Given the description of an element on the screen output the (x, y) to click on. 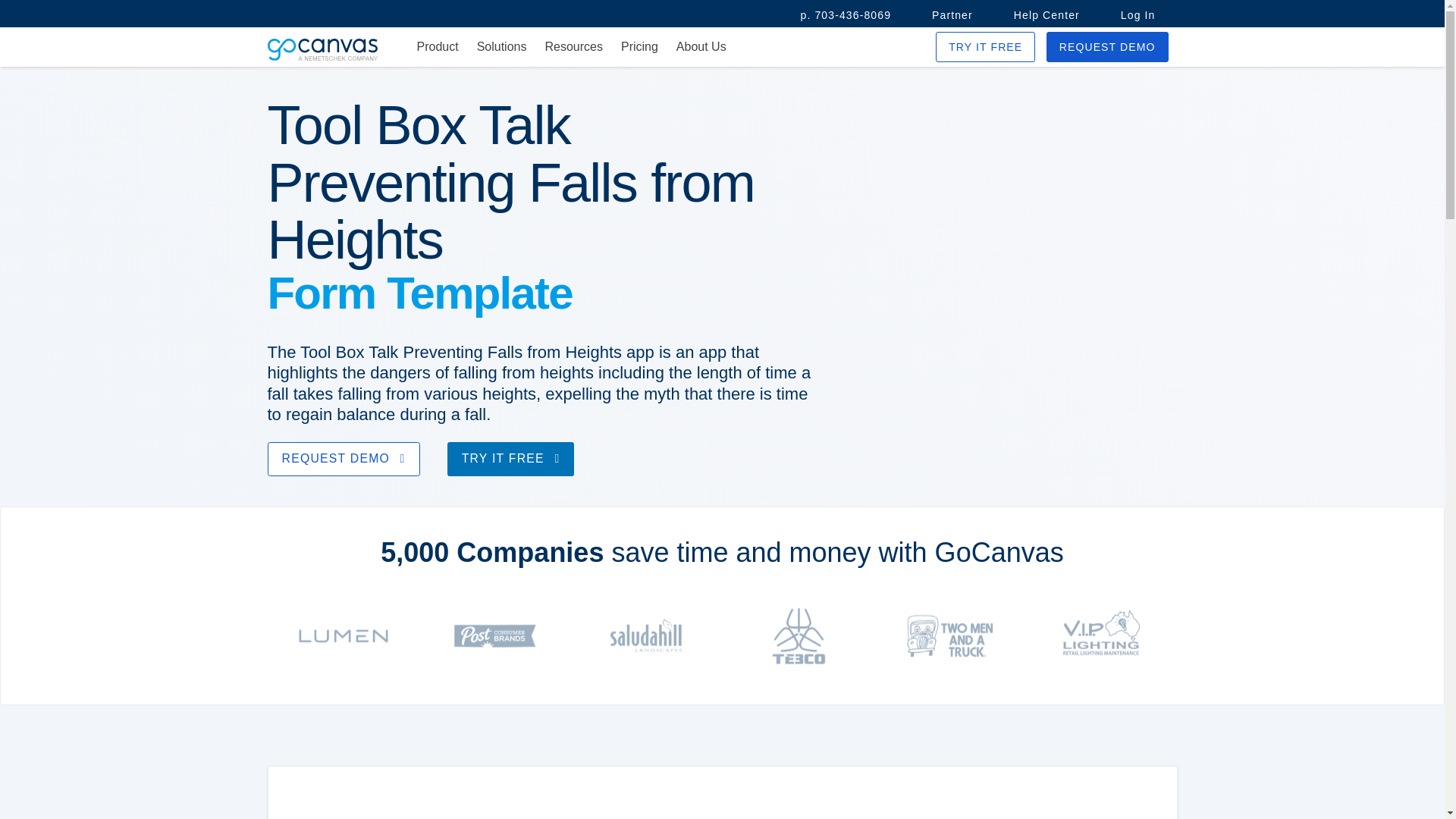
Log In (1138, 15)
REQUEST DEMO (1107, 46)
TRY IT FREE (510, 458)
p. 703-436-8069 (845, 15)
About Us (701, 46)
TRY IT FREE (985, 46)
Help Center (1047, 15)
REQUEST DEMO (342, 458)
Partner (951, 15)
Pricing (639, 46)
